Given the description of an element on the screen output the (x, y) to click on. 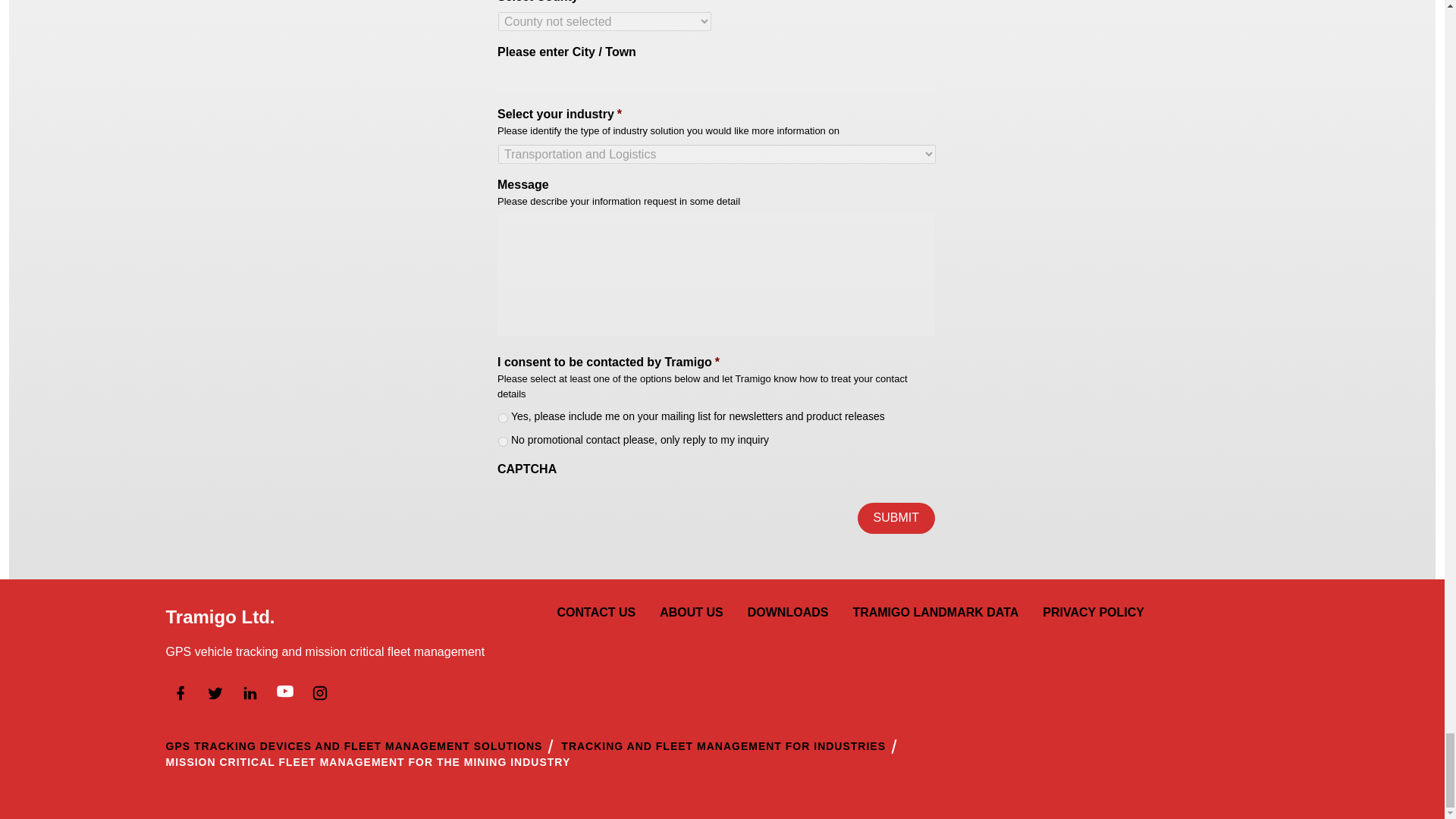
Submit (895, 517)
False (502, 441)
True (502, 418)
